Given the description of an element on the screen output the (x, y) to click on. 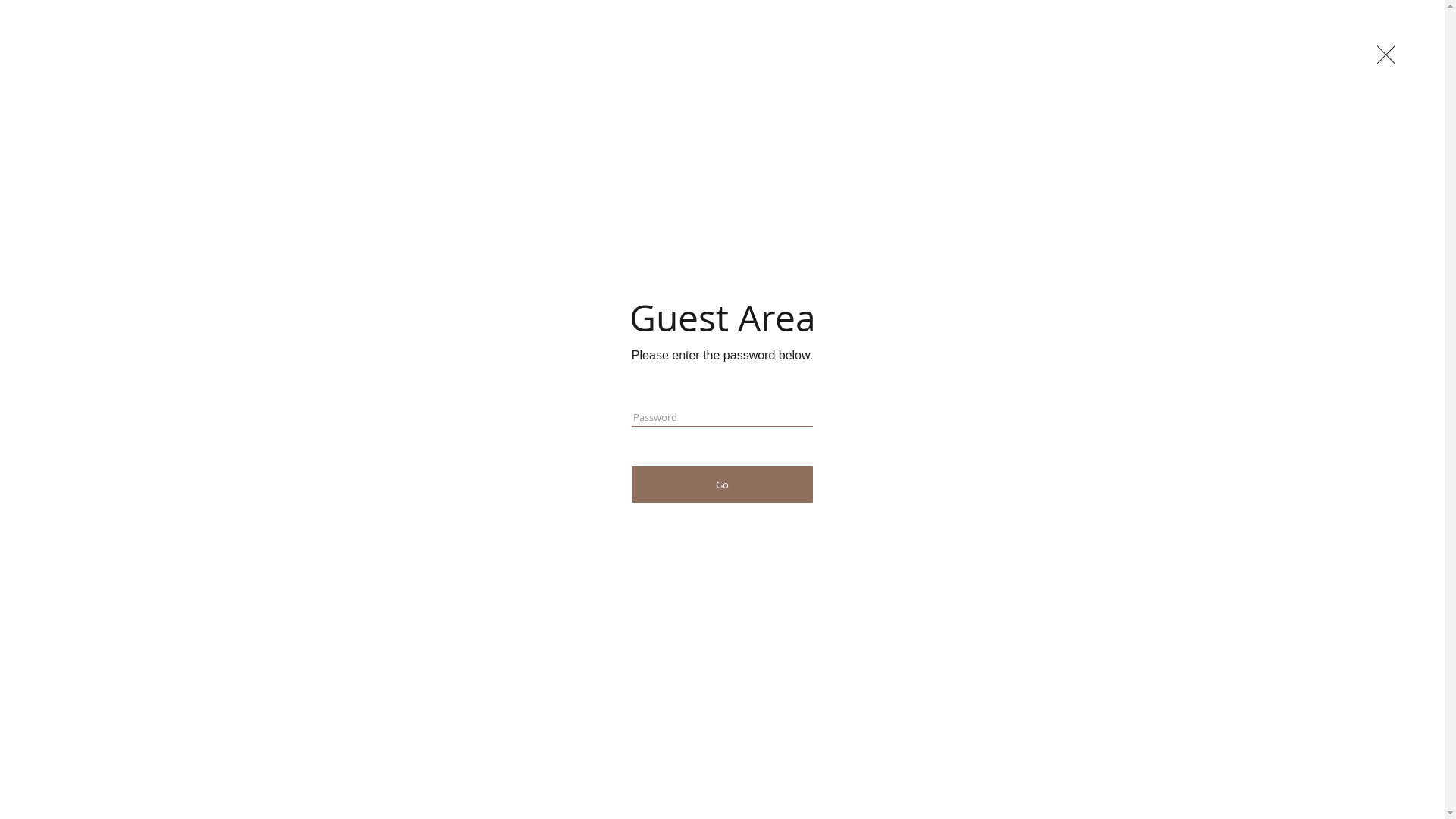
Go Element type: text (721, 484)
